Given the description of an element on the screen output the (x, y) to click on. 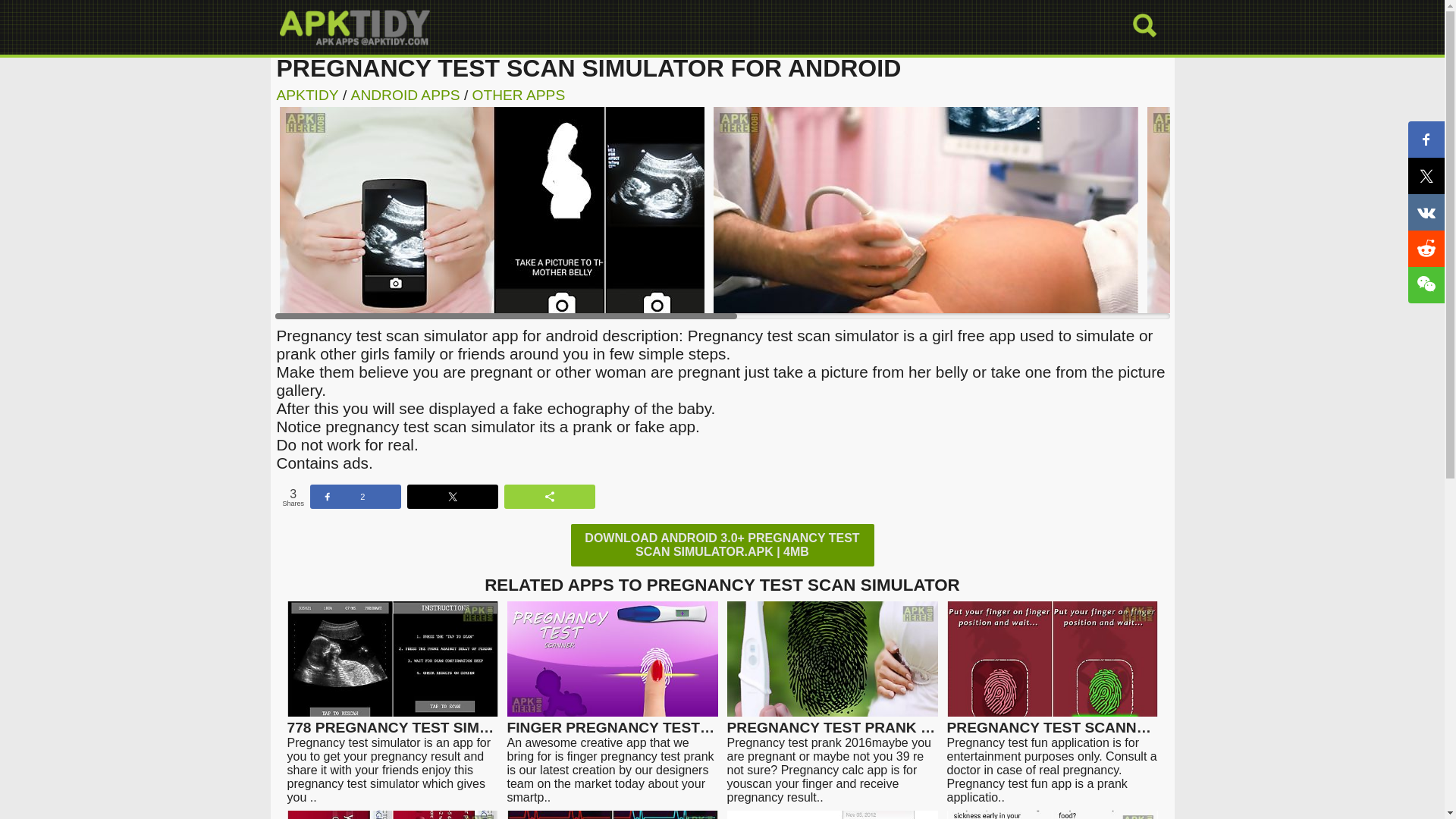
778 PREGNANCY TEST SIMULATOR (391, 720)
PREGNANCY TEST SCANNER PRANK (1051, 720)
APKTIDY (306, 94)
PREGNANCY TEST PRANK 2016 (831, 720)
FINGER PREGNANCY TEST PRANK (611, 720)
ANDROID APPS (405, 94)
